Given the description of an element on the screen output the (x, y) to click on. 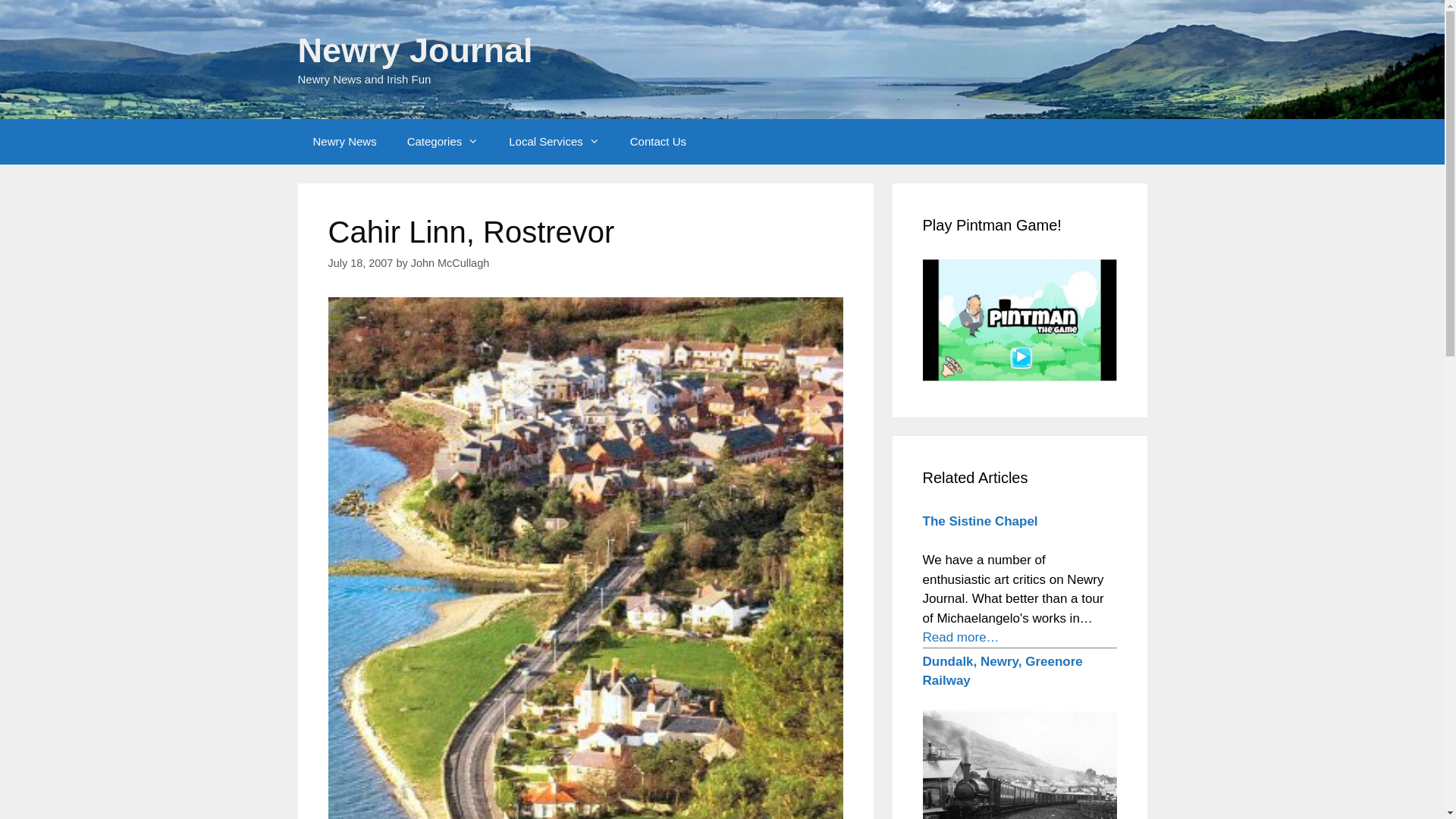
Newry Journal (414, 50)
Categories (443, 140)
View all posts by John McCullagh (449, 263)
Newry News (344, 140)
